Given the description of an element on the screen output the (x, y) to click on. 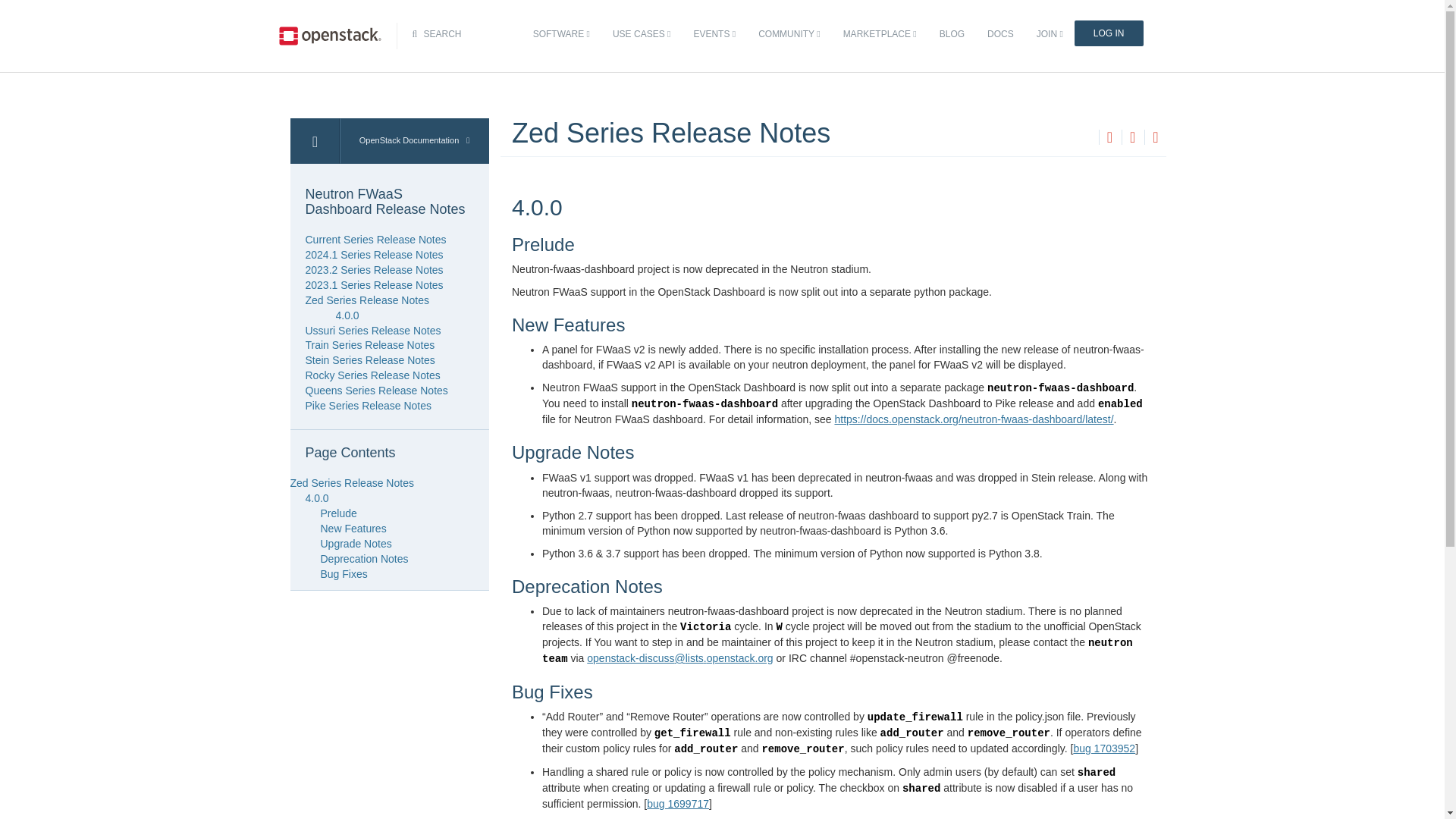
MARKETPLACE (879, 34)
EVENTS (713, 34)
SOFTWARE (561, 34)
USE CASES (641, 34)
COMMUNITY (788, 34)
Found an error? Report a bug against this page (1155, 138)
